Given the description of an element on the screen output the (x, y) to click on. 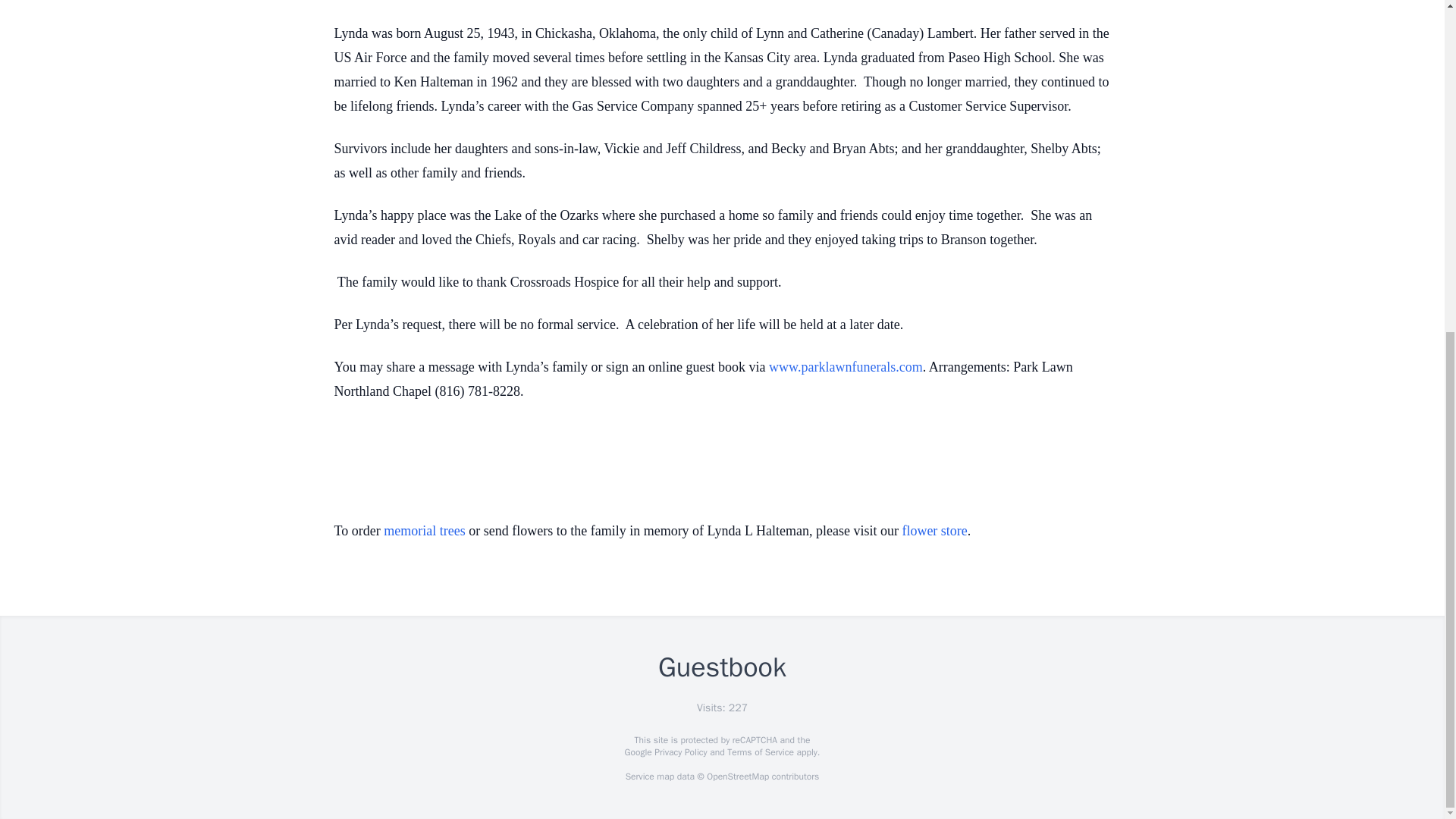
Privacy Policy (679, 752)
memorial trees (424, 530)
flower store (933, 530)
www.parklawnfunerals.com (845, 366)
OpenStreetMap (737, 776)
Terms of Service (759, 752)
